Given the description of an element on the screen output the (x, y) to click on. 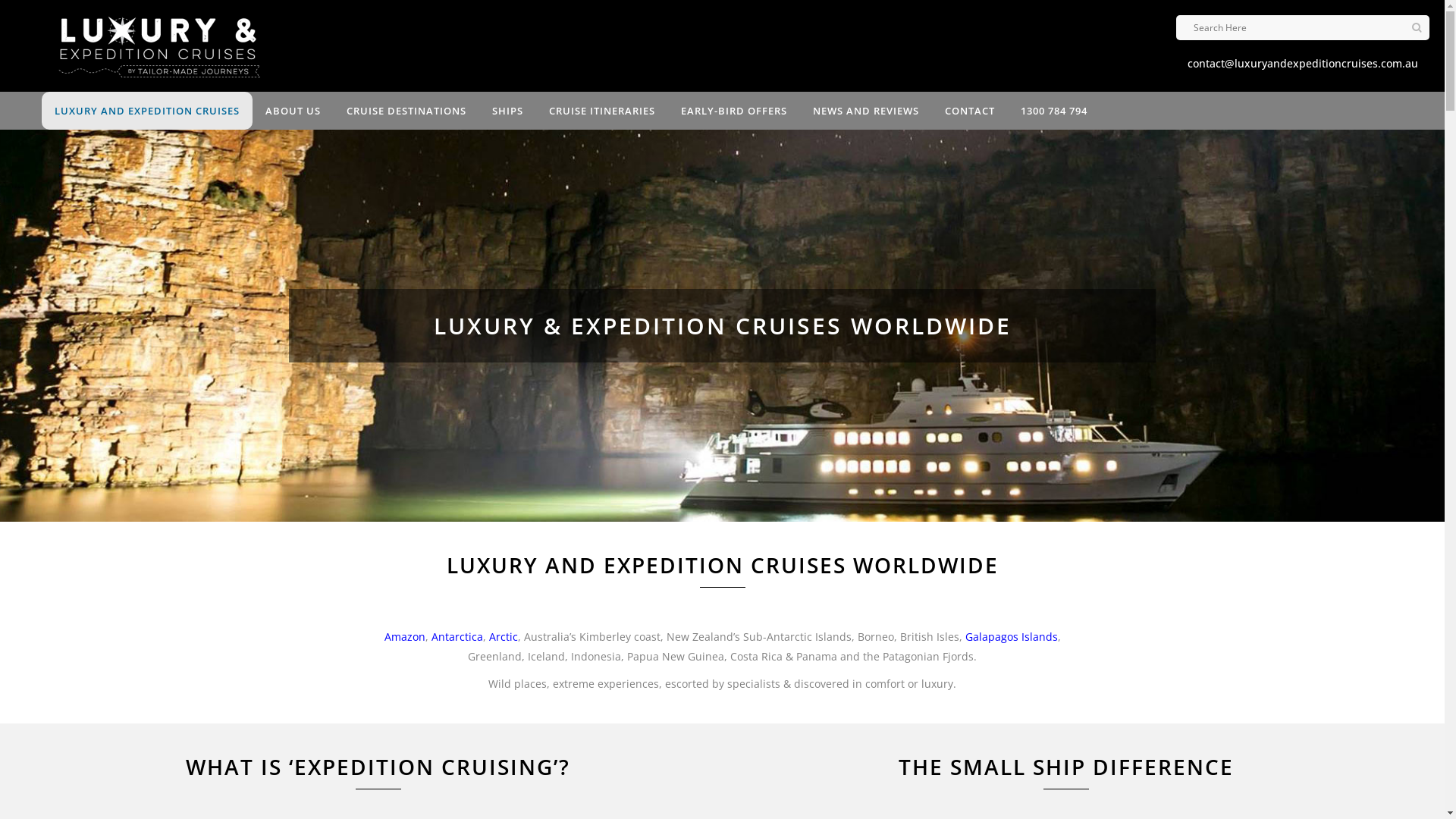
Galapagos Islands Element type: text (1010, 636)
LUXURY AND EXPEDITION CRUISES Element type: text (146, 110)
contact@luxuryandexpeditioncruises.com.au Element type: text (1302, 62)
Antarctica Element type: text (456, 636)
EARLY-BIRD OFFERS Element type: text (734, 110)
NEWS AND REVIEWS Element type: text (865, 110)
1300 784 794 Element type: text (1053, 110)
SHIPS Element type: text (507, 110)
Arctic Element type: text (502, 636)
Amazon Element type: text (403, 636)
CRUISE ITINERARIES Element type: text (602, 110)
ABOUT US Element type: text (292, 110)
CONTACT Element type: text (969, 110)
CRUISE DESTINATIONS Element type: text (406, 110)
